Given the description of an element on the screen output the (x, y) to click on. 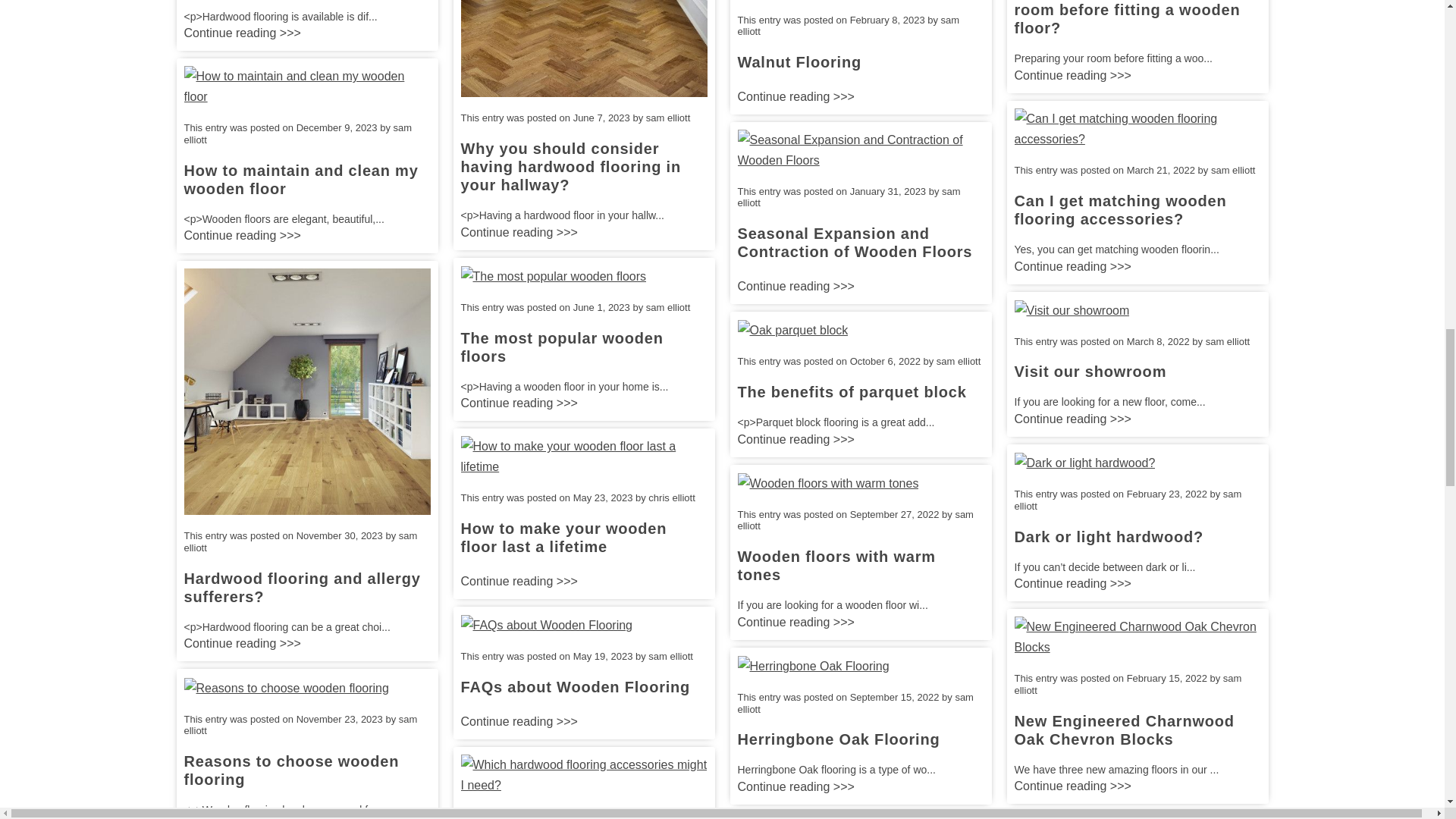
How to maintain and clean my wooden floor (300, 179)
Continue Reading (241, 32)
Continue Reading (241, 643)
How to maintain and clean my wooden floor (300, 179)
How to maintain and clean my wooden floor (306, 85)
Continue Reading (241, 235)
Hardwood flooring and allergy sufferers? (301, 587)
Reasons to choose wooden flooring (285, 686)
Hardwood flooring and allergy sufferers? (306, 390)
